Given the description of an element on the screen output the (x, y) to click on. 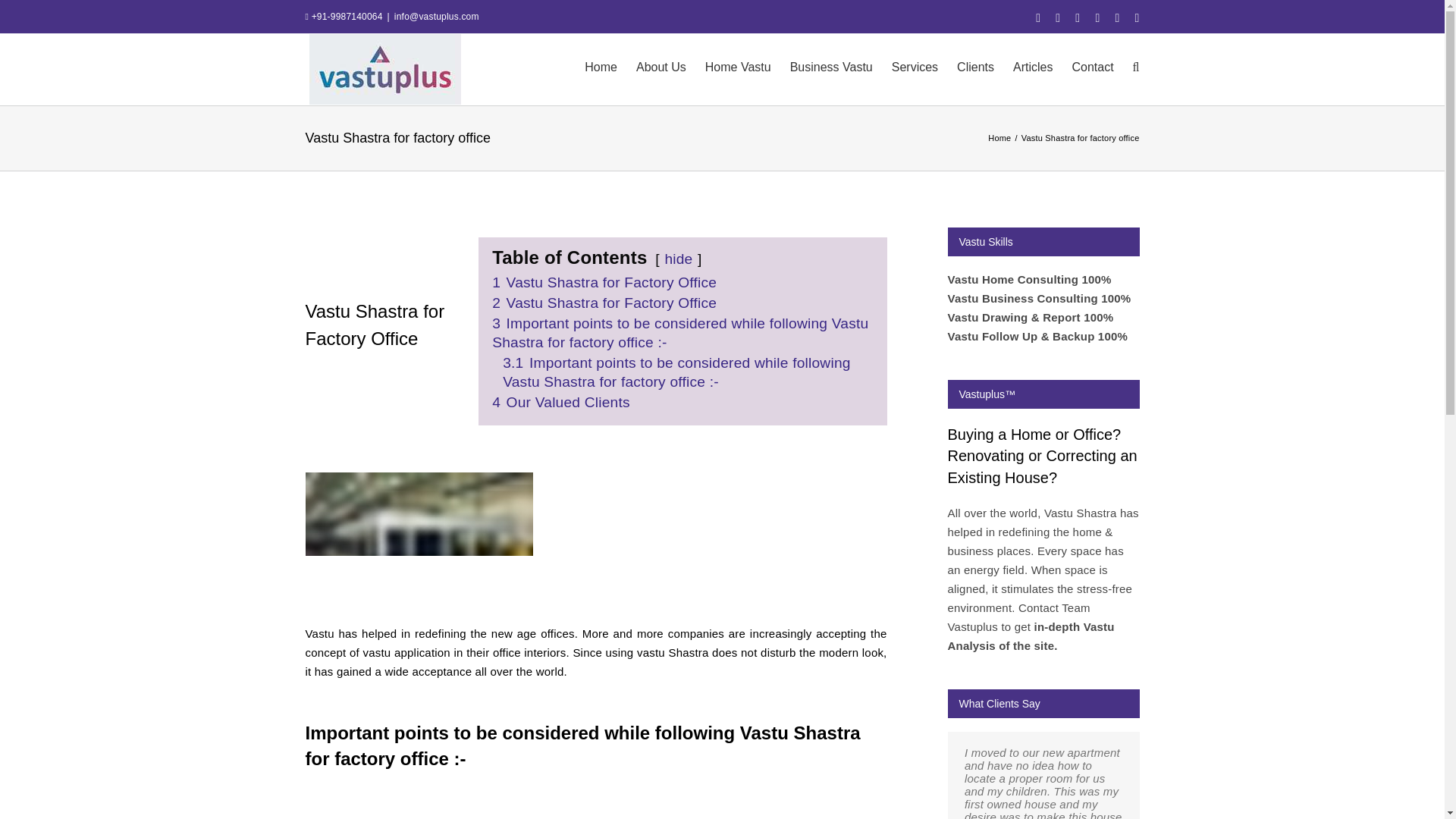
Home Vastu (737, 65)
Business Vastu (831, 65)
vastu-factory-office (418, 548)
